Given the description of an element on the screen output the (x, y) to click on. 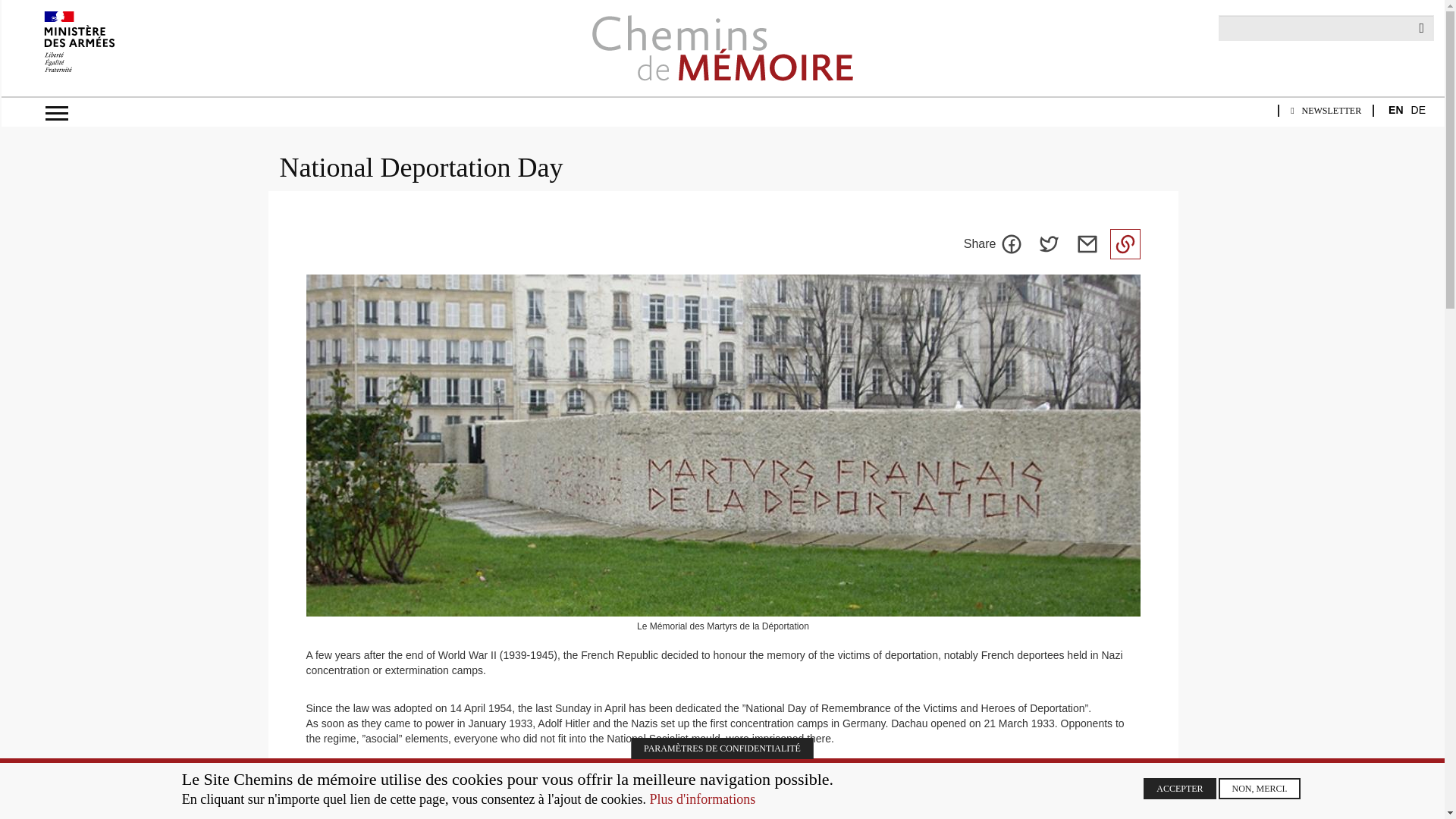
Home (722, 48)
EN (1396, 110)
DE (1417, 110)
Copier dans le presse-papier (1124, 244)
Apply (1420, 27)
Partager sur Facebook (1010, 244)
Partager par email (1086, 244)
Partager sur Twitter (1048, 244)
Copier dans le presse-papier (1124, 244)
Partager par email (1086, 244)
Remembrance Tourism (284, 291)
Accepter tous les cookies (1178, 788)
